Given the description of an element on the screen output the (x, y) to click on. 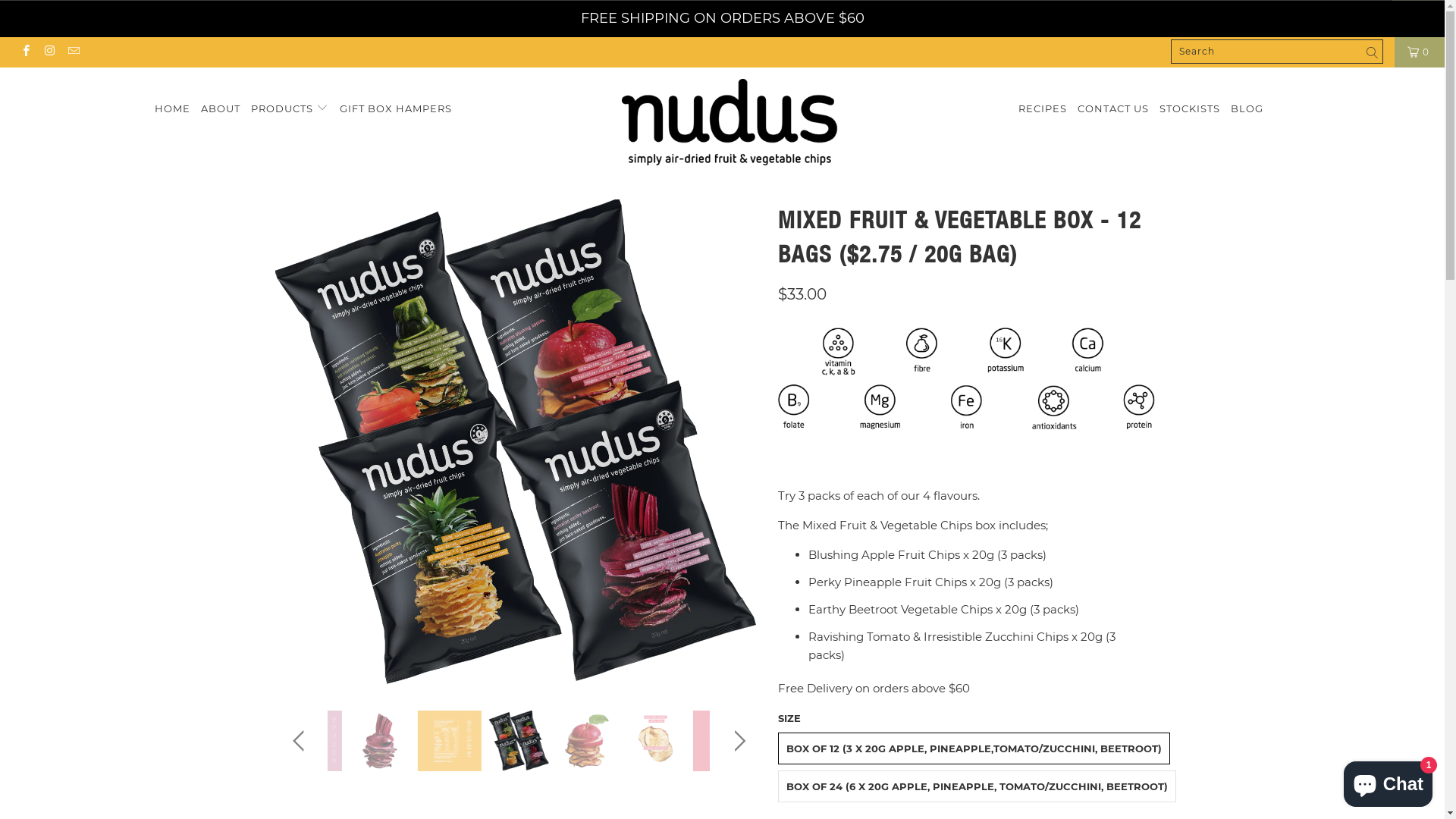
Nudus Element type: hover (729, 122)
Email Nudus Element type: hover (72, 51)
Nudus on Instagram Element type: hover (48, 51)
ABOUT Element type: text (220, 108)
BLOG Element type: text (1246, 108)
GIFT BOX HAMPERS Element type: text (395, 108)
CONTACT US Element type: text (1112, 108)
RECIPES Element type: text (1042, 108)
STOCKISTS Element type: text (1189, 108)
0 Element type: text (1419, 52)
PRODUCTS Element type: text (289, 108)
HOME Element type: text (172, 108)
Nudus on Facebook Element type: hover (24, 51)
Shopify online store chat Element type: hover (1388, 780)
